Given the description of an element on the screen output the (x, y) to click on. 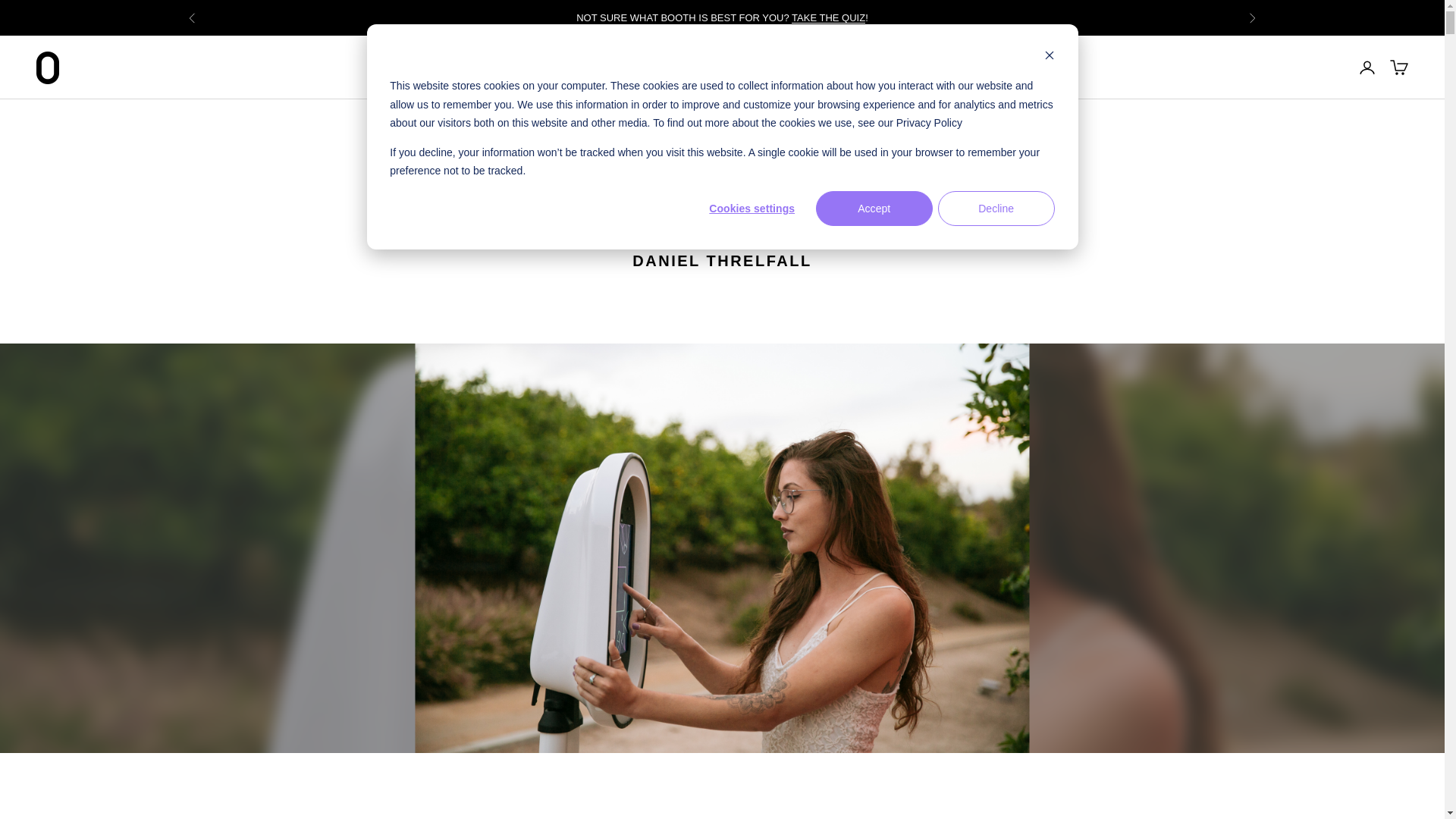
Shop Products (505, 66)
Decline (995, 208)
Shop Software (616, 66)
Cookies settings (752, 208)
TAKE THE QUIZ (828, 17)
Resources (714, 66)
Accept (874, 208)
